Given the description of an element on the screen output the (x, y) to click on. 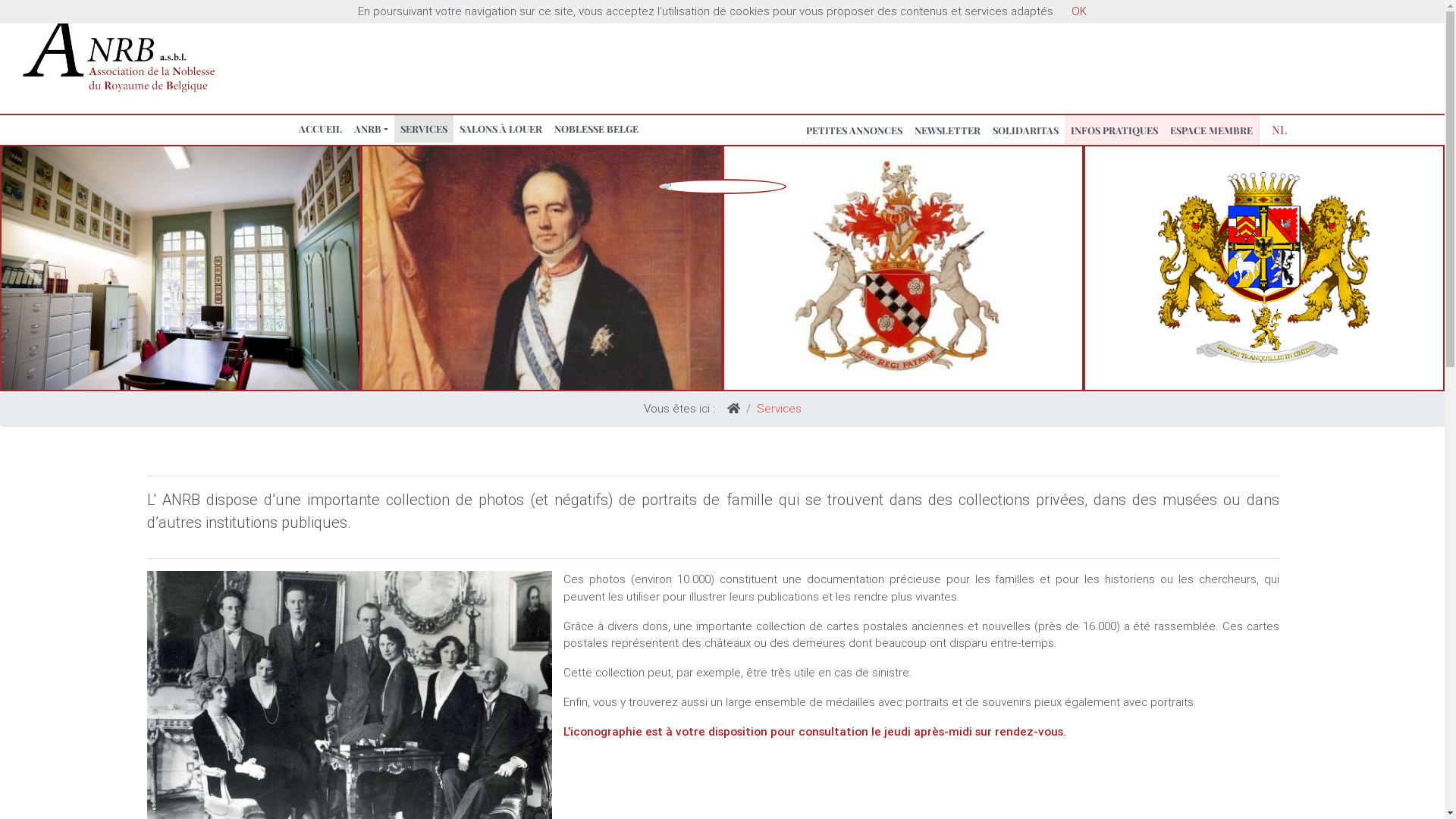
SERVICES Element type: text (423, 128)
SOLIDARITAS Element type: text (1025, 129)
PETITES ANNONCES Element type: text (854, 129)
NL Element type: text (1278, 129)
NEWSLETTER Element type: text (947, 129)
NOBLESSE BELGE Element type: text (596, 128)
ANRB Element type: text (371, 128)
OK Element type: text (1078, 10)
ACCUEIL Element type: text (320, 128)
ESPACE MEMBRE Element type: text (1211, 129)
Services Element type: text (778, 408)
INFOS PRATIQUES Element type: text (1114, 129)
